Given the description of an element on the screen output the (x, y) to click on. 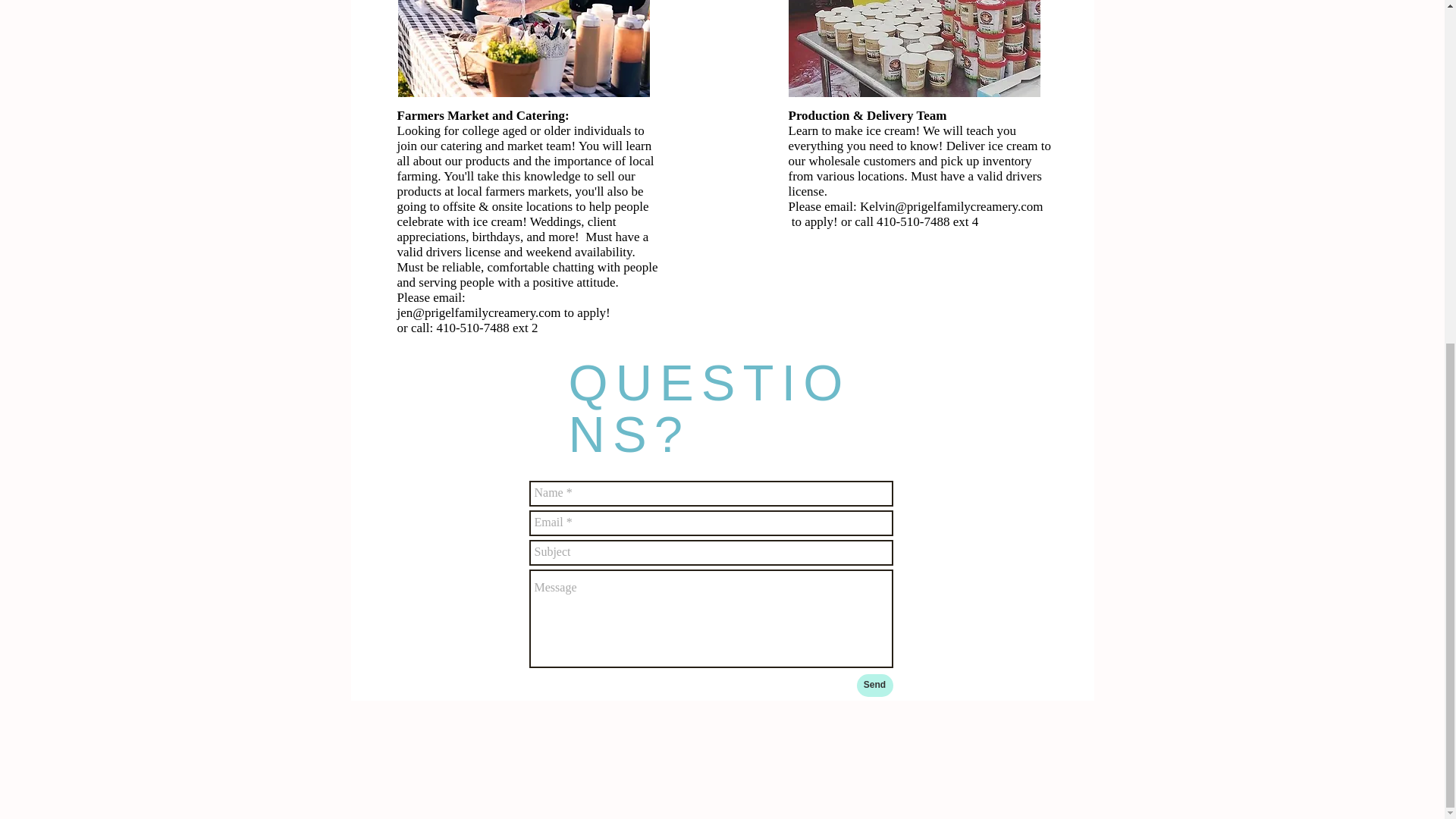
Send (875, 685)
